Given the description of an element on the screen output the (x, y) to click on. 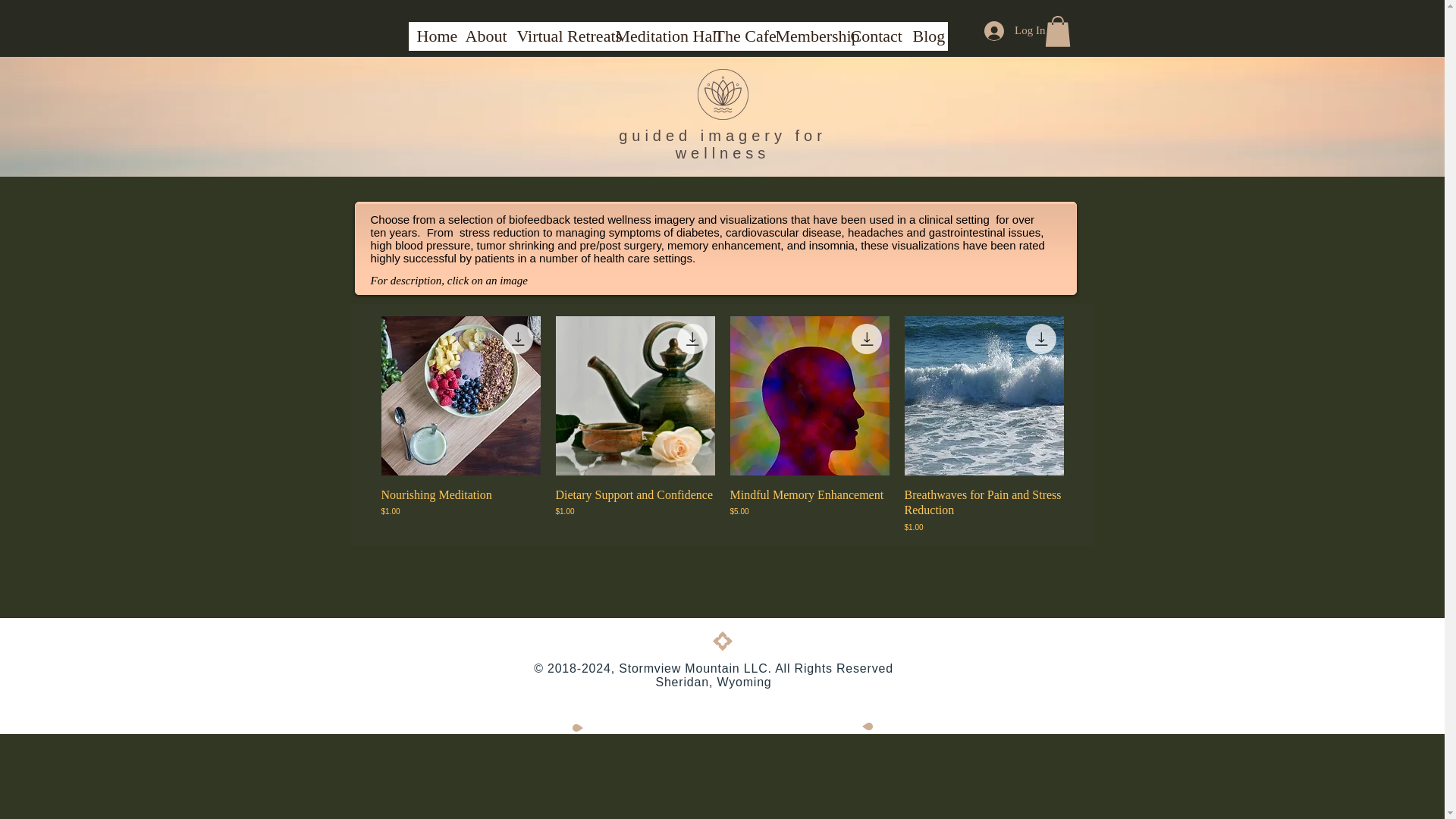
Meditation Hall (656, 41)
The Cafe (736, 41)
Virtual Retreats (557, 41)
Contact (872, 41)
Membership (805, 41)
guided imagery for wellness (722, 144)
Log In (1014, 30)
Blog (925, 41)
About (482, 41)
Home (432, 41)
